Given the description of an element on the screen output the (x, y) to click on. 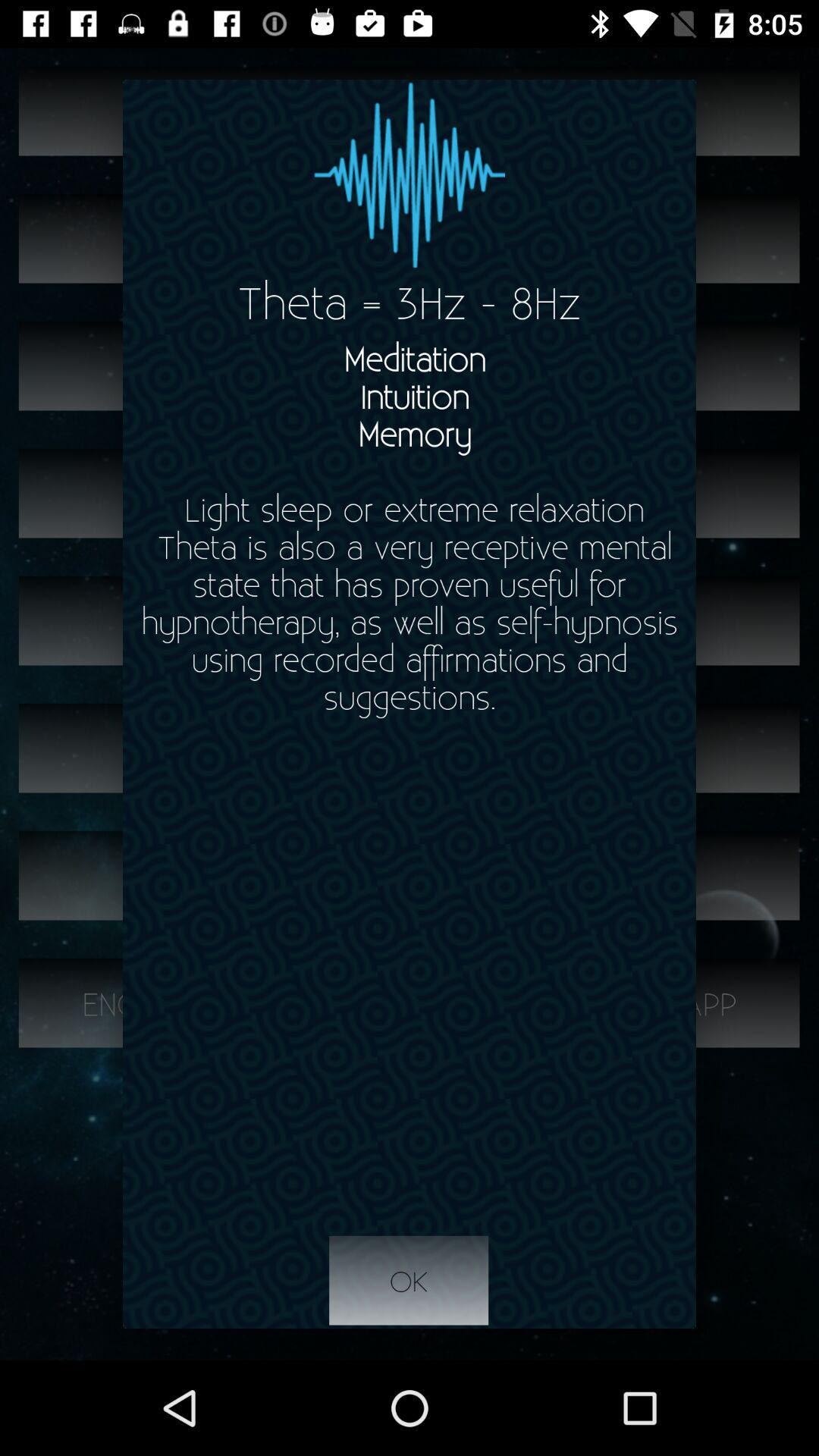
open ok icon (408, 1280)
